Given the description of an element on the screen output the (x, y) to click on. 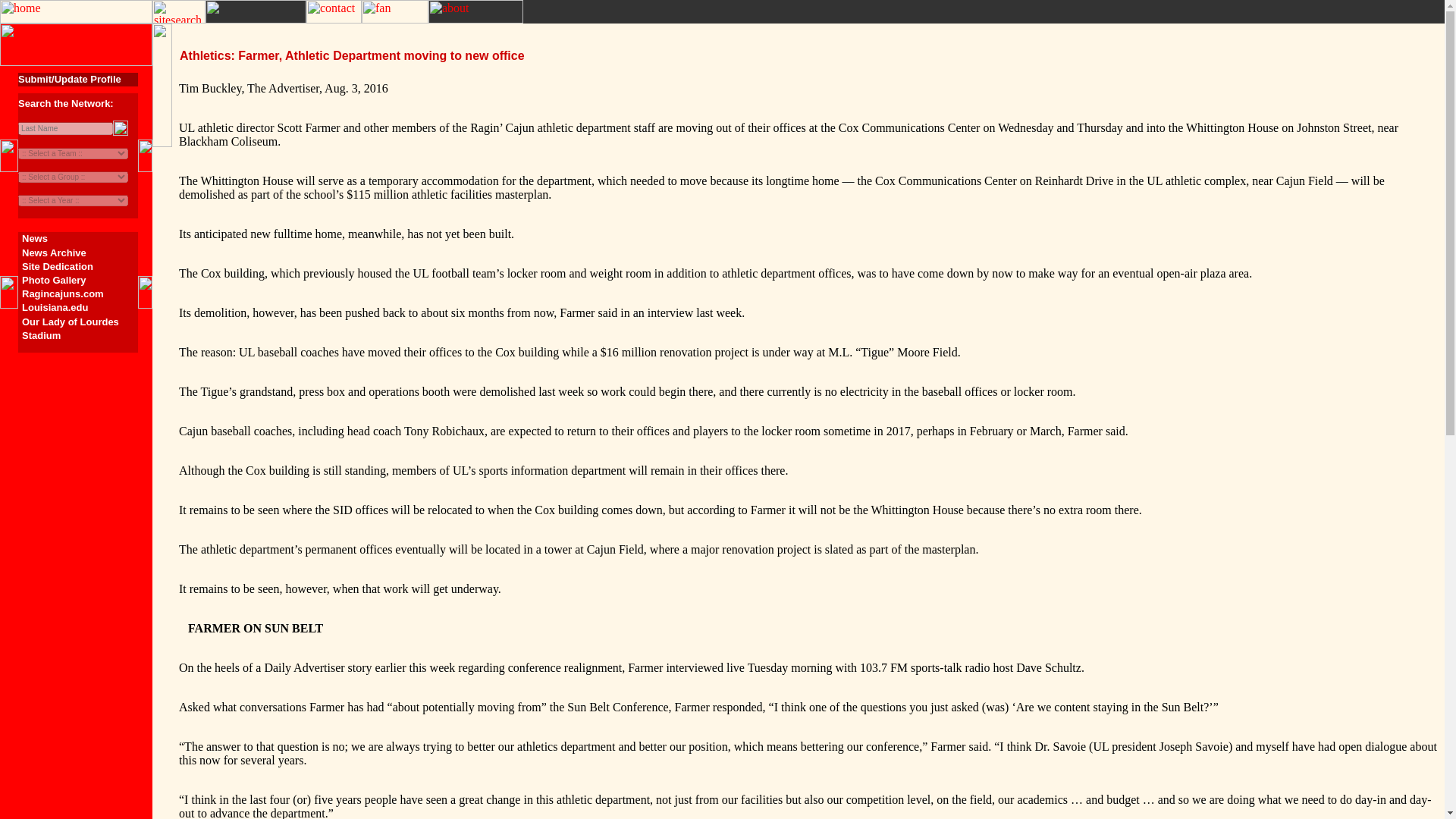
Submit (120, 127)
Photo Gallery (53, 279)
News Archive (53, 252)
Louisiana.edu (54, 307)
Ragincajuns.com (62, 293)
Site Dedication (57, 266)
News (34, 238)
Our Lady of Lourdes Stadium (70, 327)
